Given the description of an element on the screen output the (x, y) to click on. 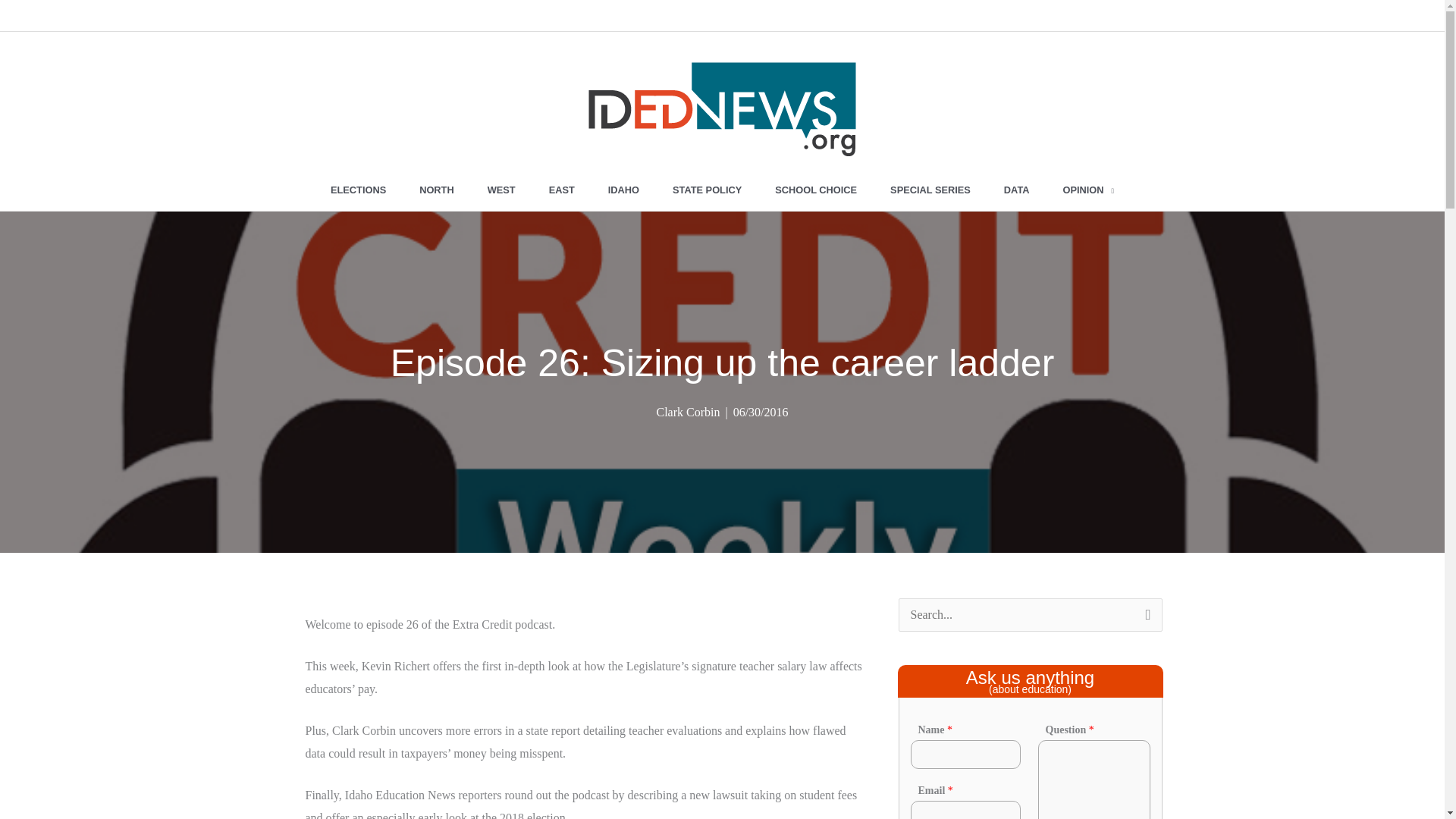
EAST (561, 189)
OPINION (1088, 189)
STATE POLICY (707, 189)
DATA (1016, 189)
ELECTIONS (358, 189)
WEST (501, 189)
Clark Corbin (687, 411)
IDAHO (623, 189)
SPECIAL SERIES (930, 189)
NORTH (436, 189)
